Given the description of an element on the screen output the (x, y) to click on. 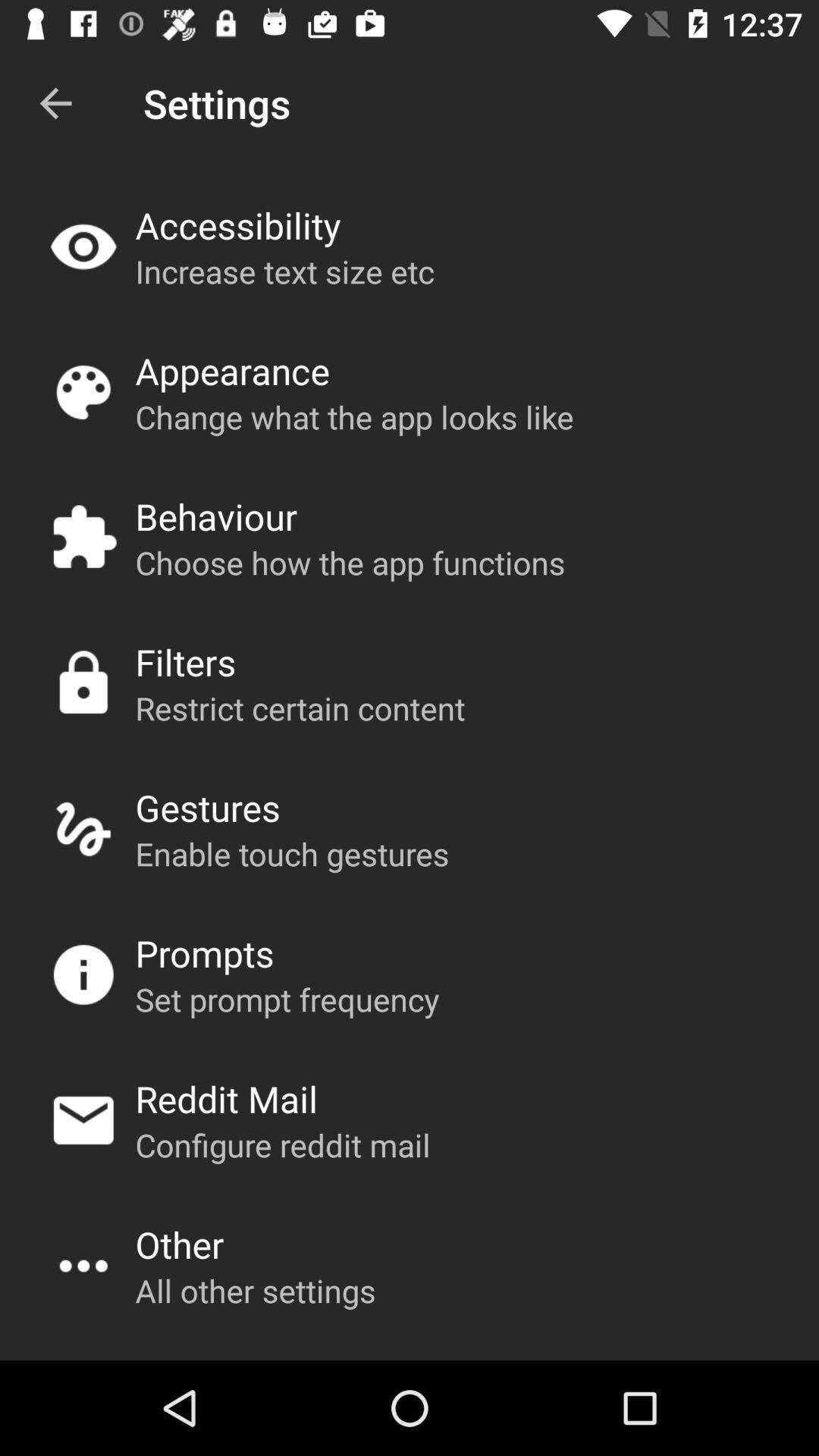
tap enable touch gestures icon (292, 853)
